Given the description of an element on the screen output the (x, y) to click on. 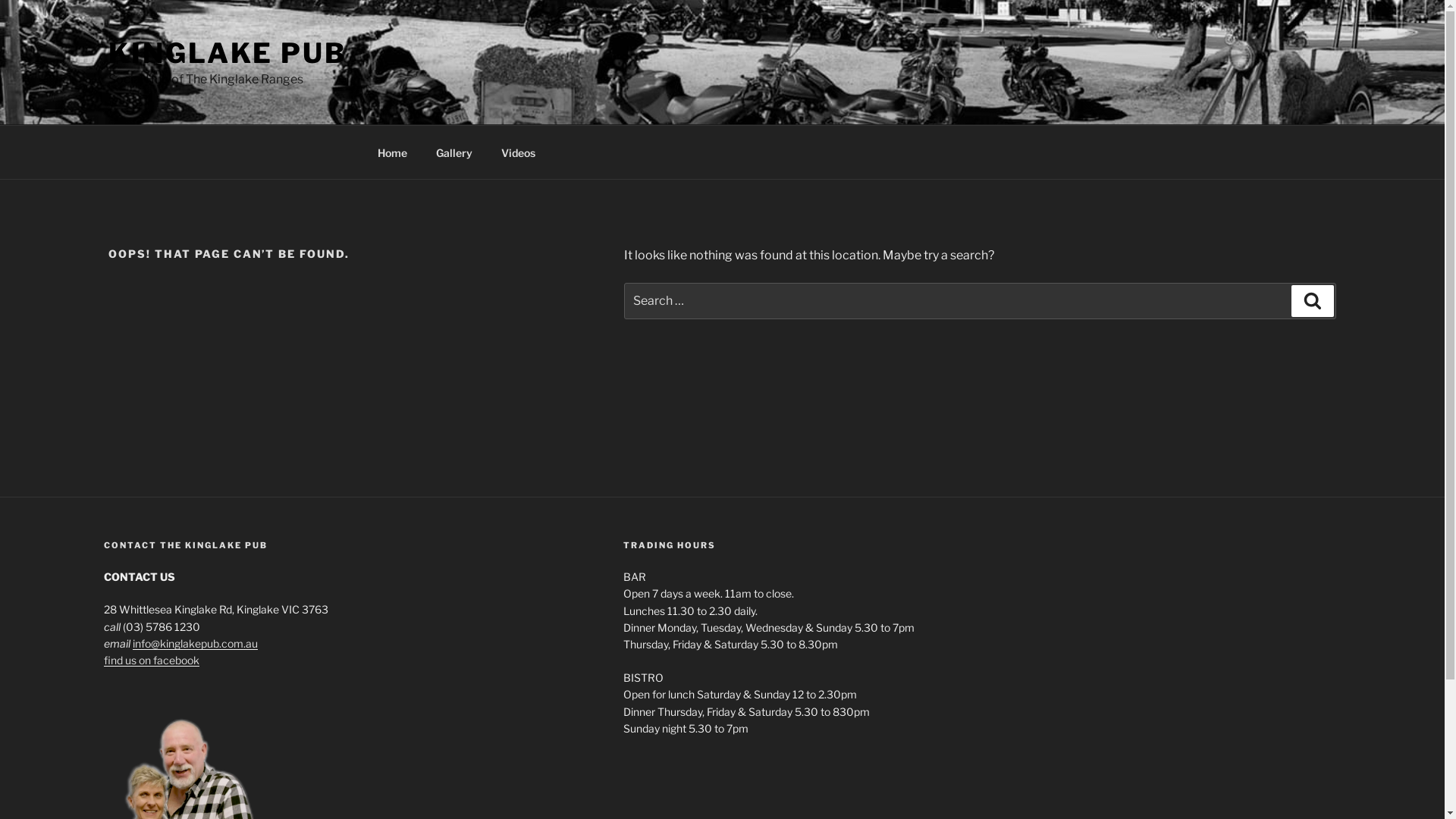
info@kinglakepub.com.au Element type: text (194, 643)
Videos Element type: text (518, 151)
Gallery Element type: text (454, 151)
KINGLAKE PUB Element type: text (227, 52)
Home Element type: text (392, 151)
find us on facebook Element type: text (151, 659)
Search Element type: text (1312, 300)
